Given the description of an element on the screen output the (x, y) to click on. 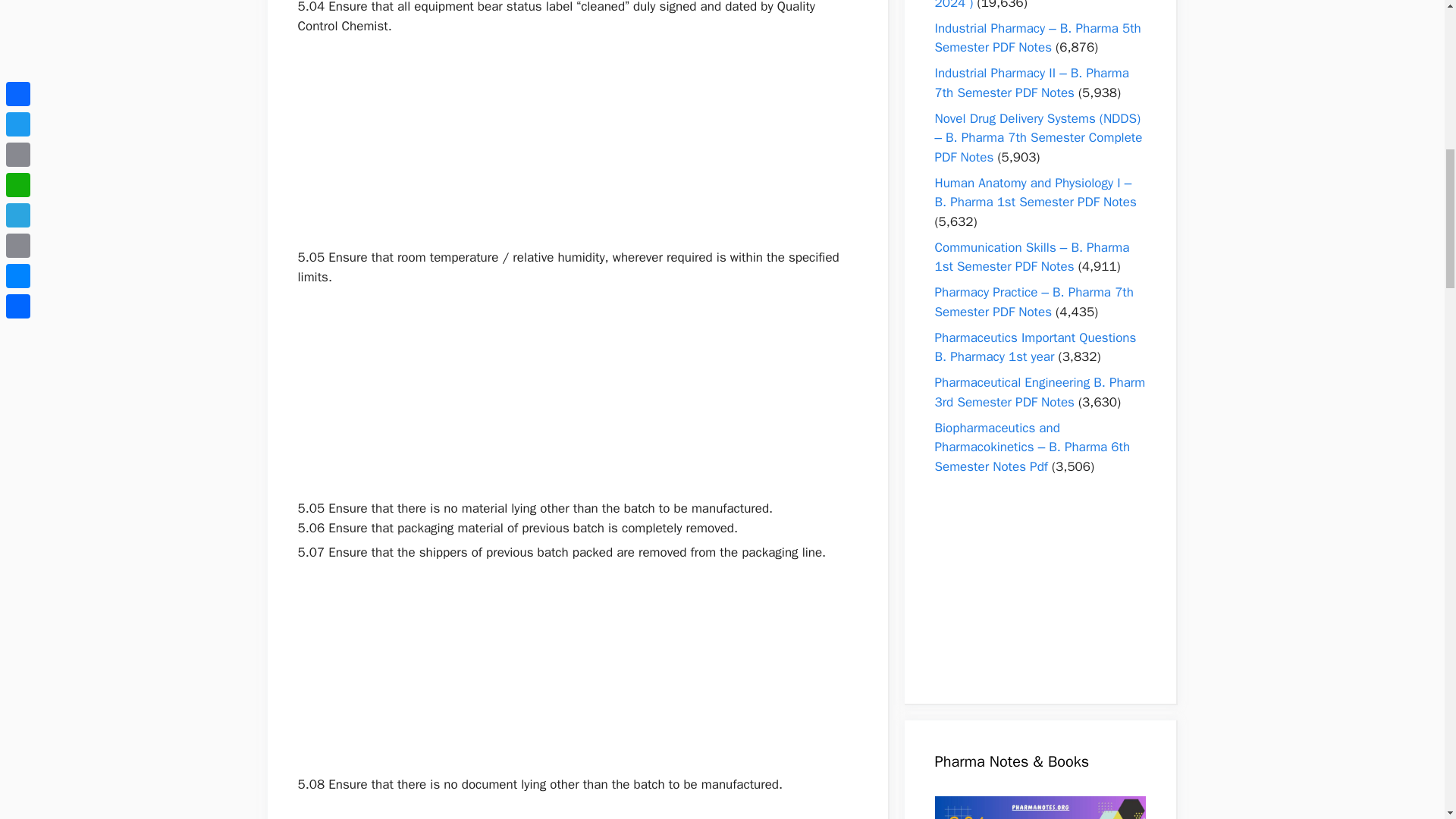
Advertisement (576, 392)
Advertisement (576, 668)
Advertisement (576, 806)
Advertisement (576, 142)
